Given the description of an element on the screen output the (x, y) to click on. 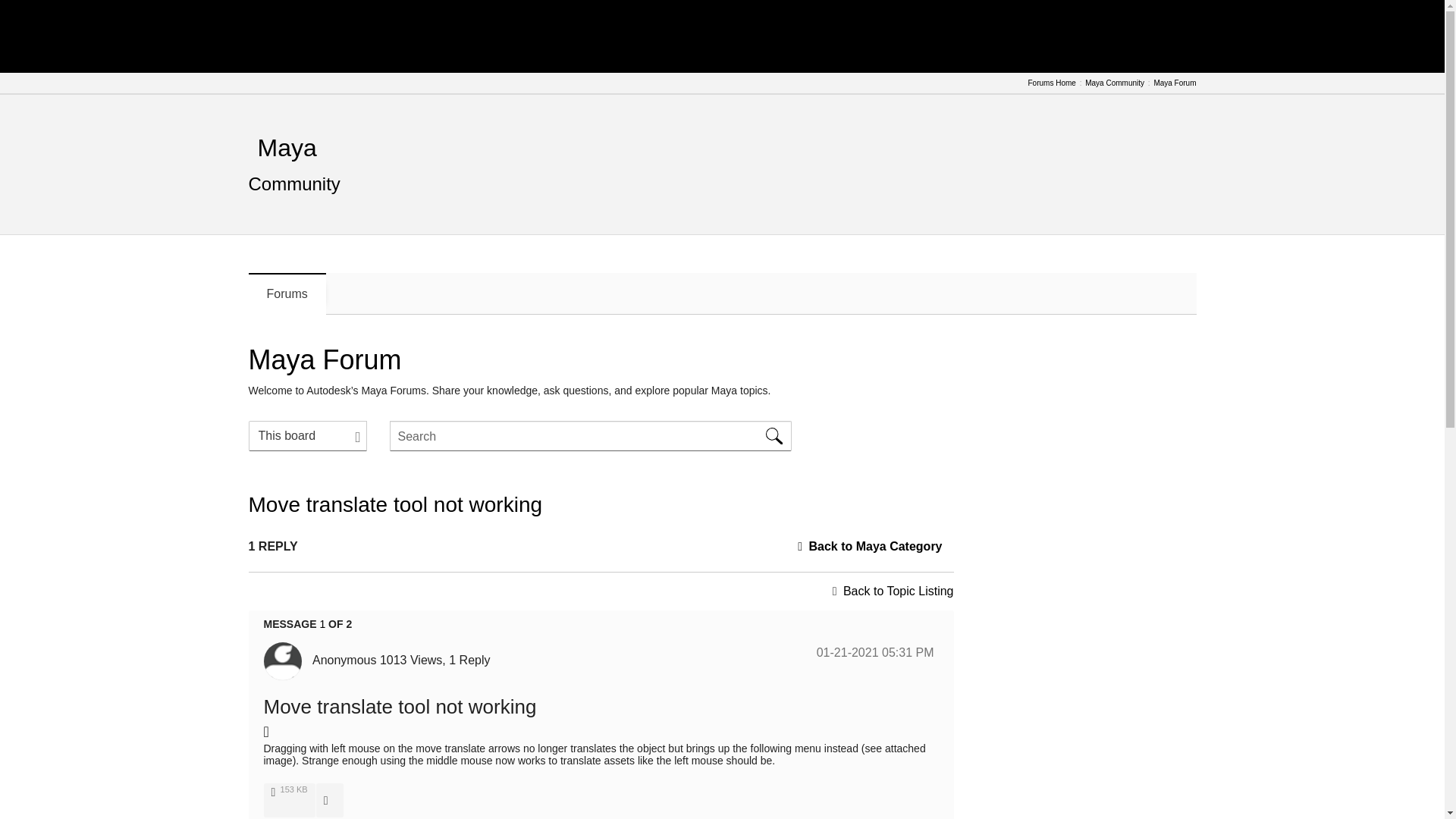
Search (774, 435)
Posted on (875, 652)
Forums (287, 293)
Search (774, 435)
Forums Home (1051, 82)
Search Granularity (307, 435)
Maya Forum (1174, 82)
Search (591, 435)
Back to Maya Category (875, 545)
Maya Community (1114, 82)
Back to Topic Listing (898, 590)
1 (321, 623)
Maya (287, 147)
Search (774, 435)
